Given the description of an element on the screen output the (x, y) to click on. 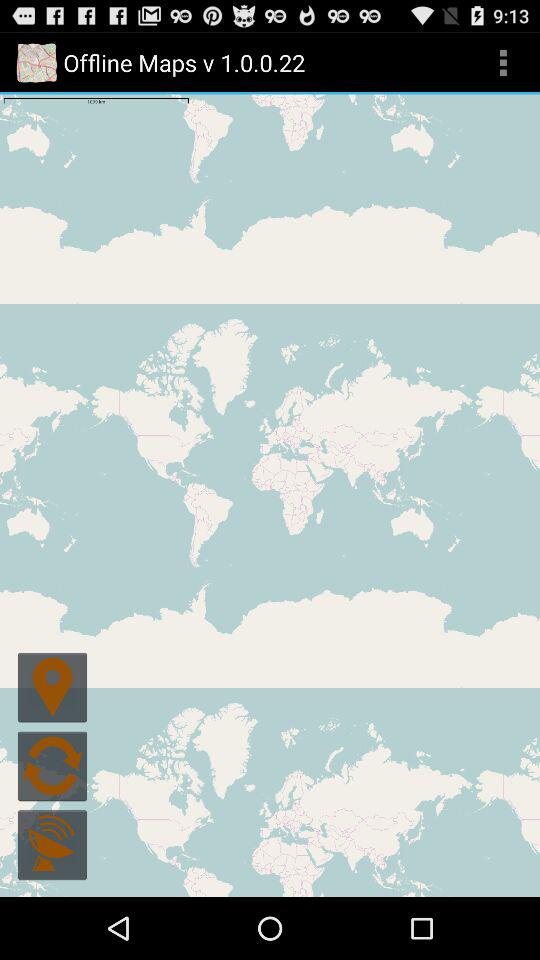
launch app to the right of the offline maps v item (503, 62)
